Given the description of an element on the screen output the (x, y) to click on. 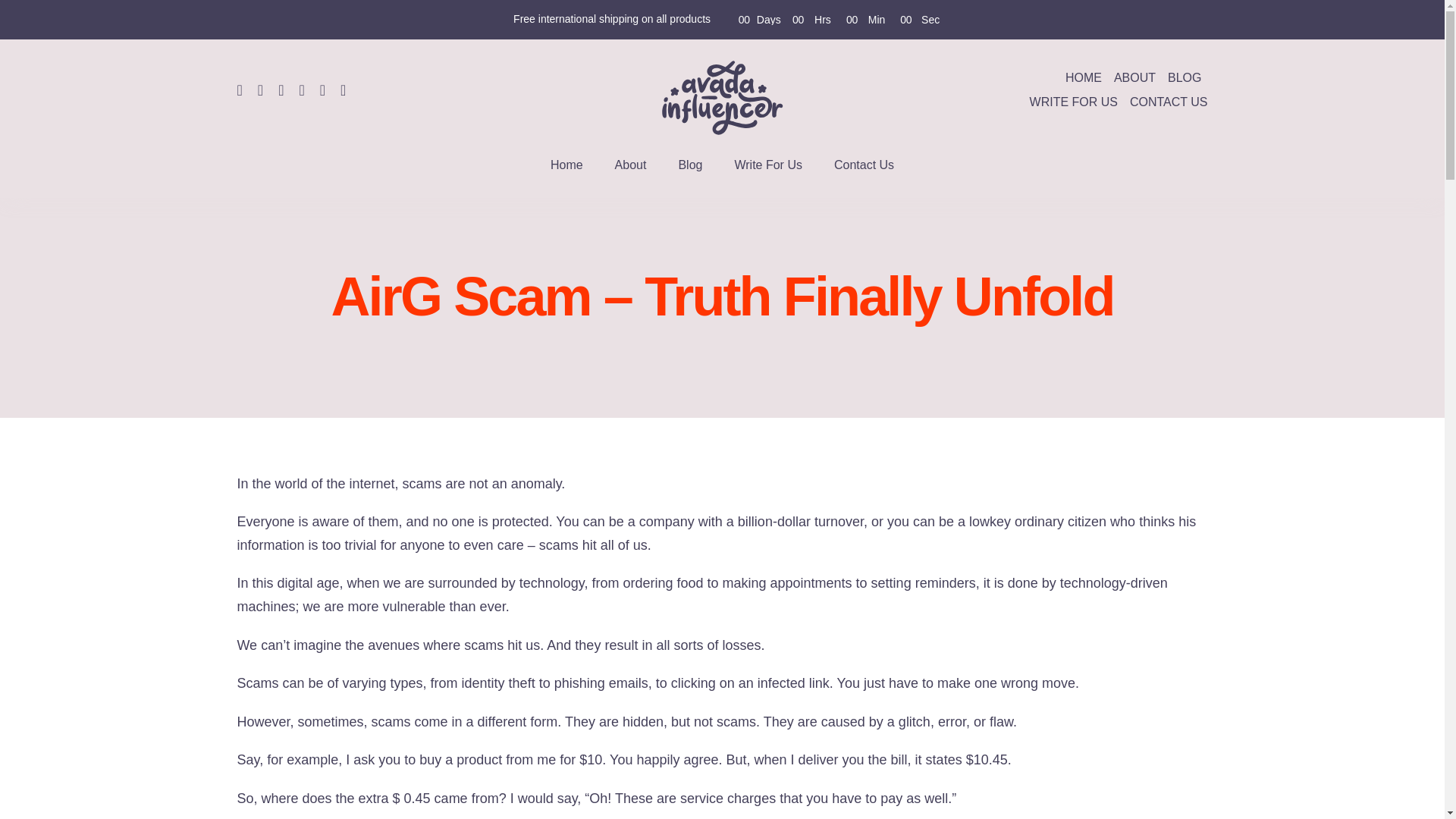
Contact Us (863, 164)
About (630, 164)
ABOUT (1134, 78)
BLOG (1184, 78)
CONTACT US (1168, 102)
Home (566, 164)
Write For Us (767, 164)
Blog (689, 164)
WRITE FOR US (1073, 102)
HOME (1083, 78)
